Given the description of an element on the screen output the (x, y) to click on. 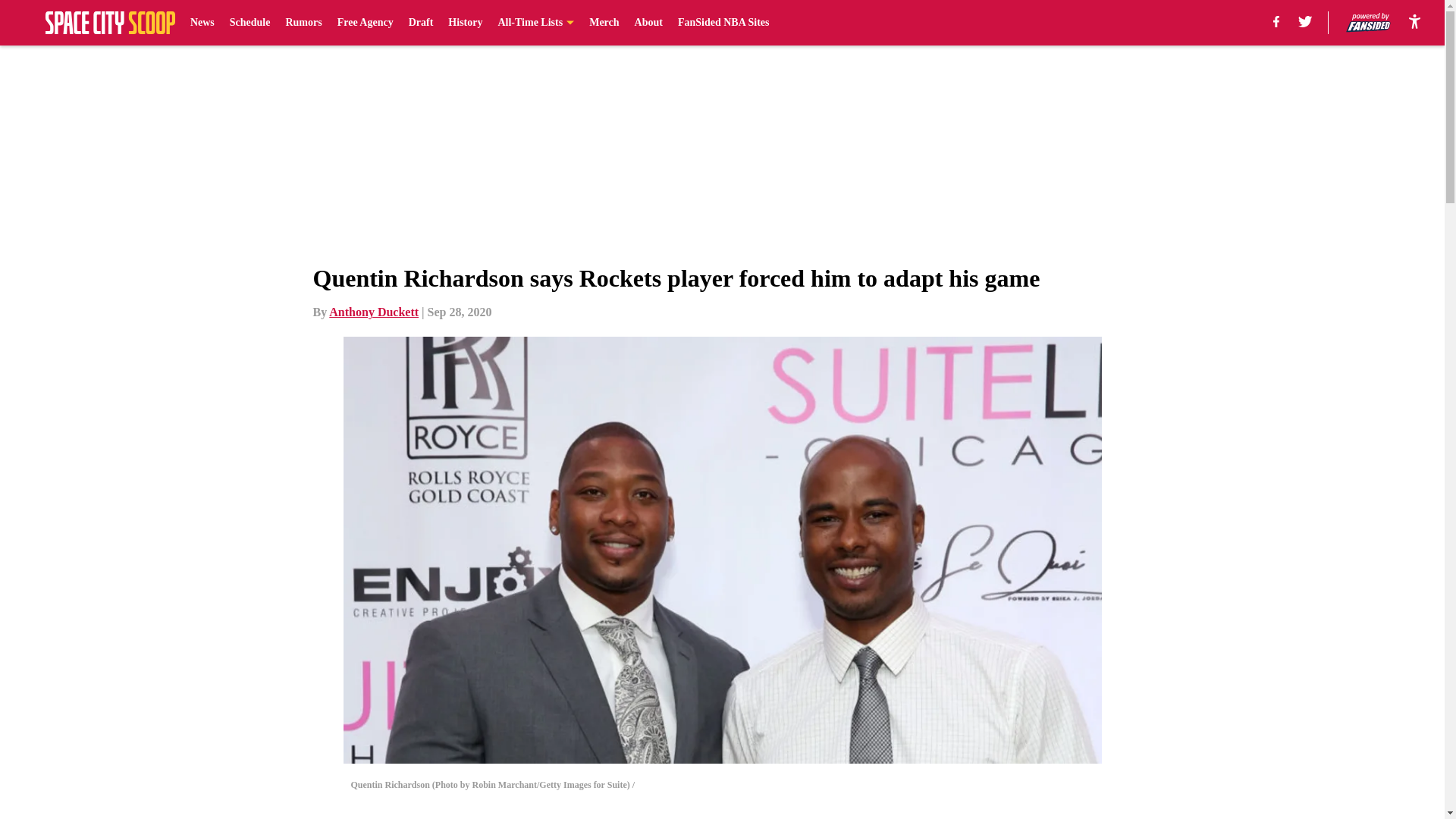
Rumors (303, 22)
Free Agency (365, 22)
News (202, 22)
Draft (421, 22)
All-Time Lists (535, 22)
Anthony Duckett (374, 311)
History (464, 22)
FanSided NBA Sites (724, 22)
Merch (603, 22)
Schedule (250, 22)
About (648, 22)
